Given the description of an element on the screen output the (x, y) to click on. 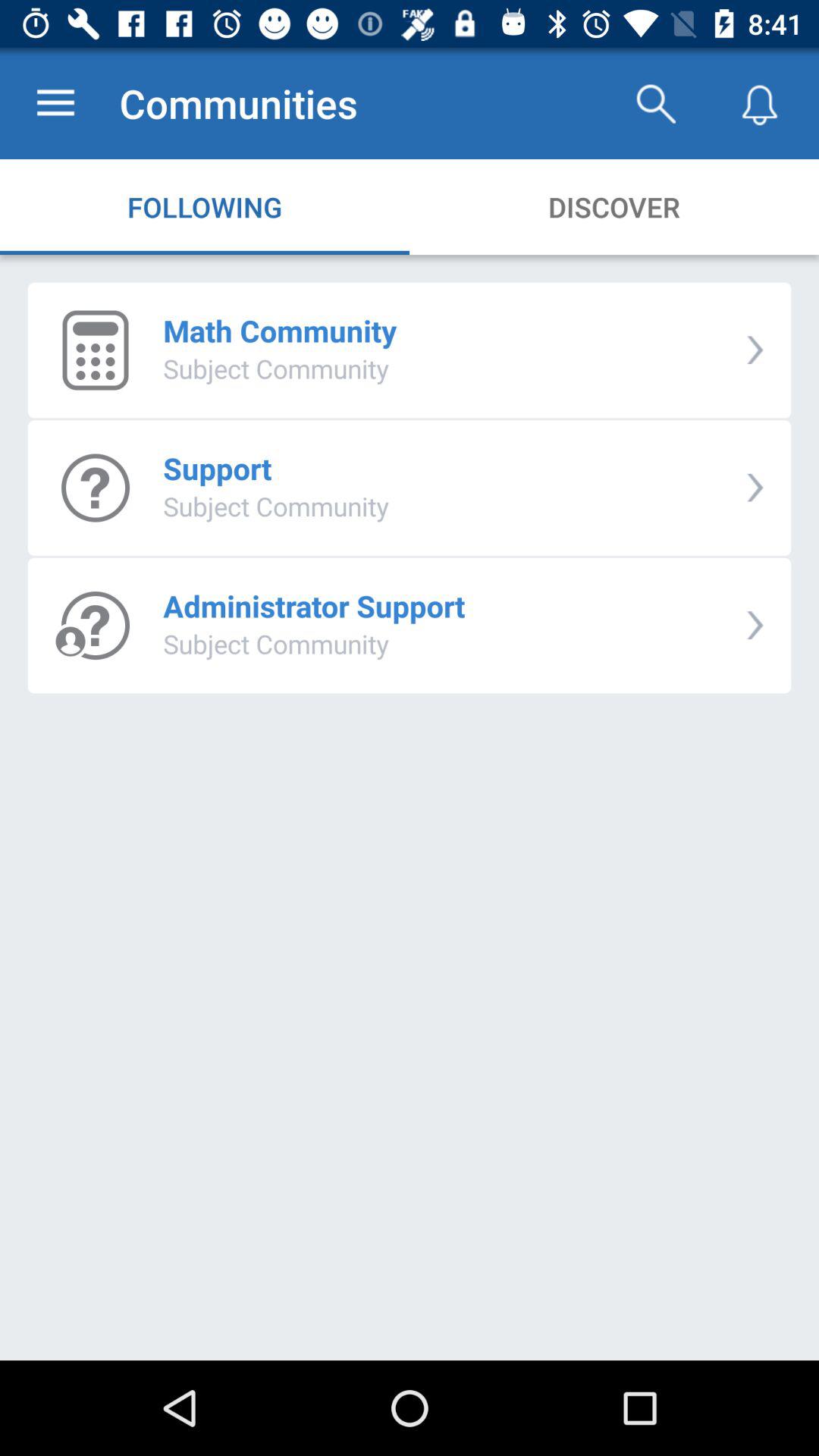
press the icon to the left of the communities (55, 103)
